Given the description of an element on the screen output the (x, y) to click on. 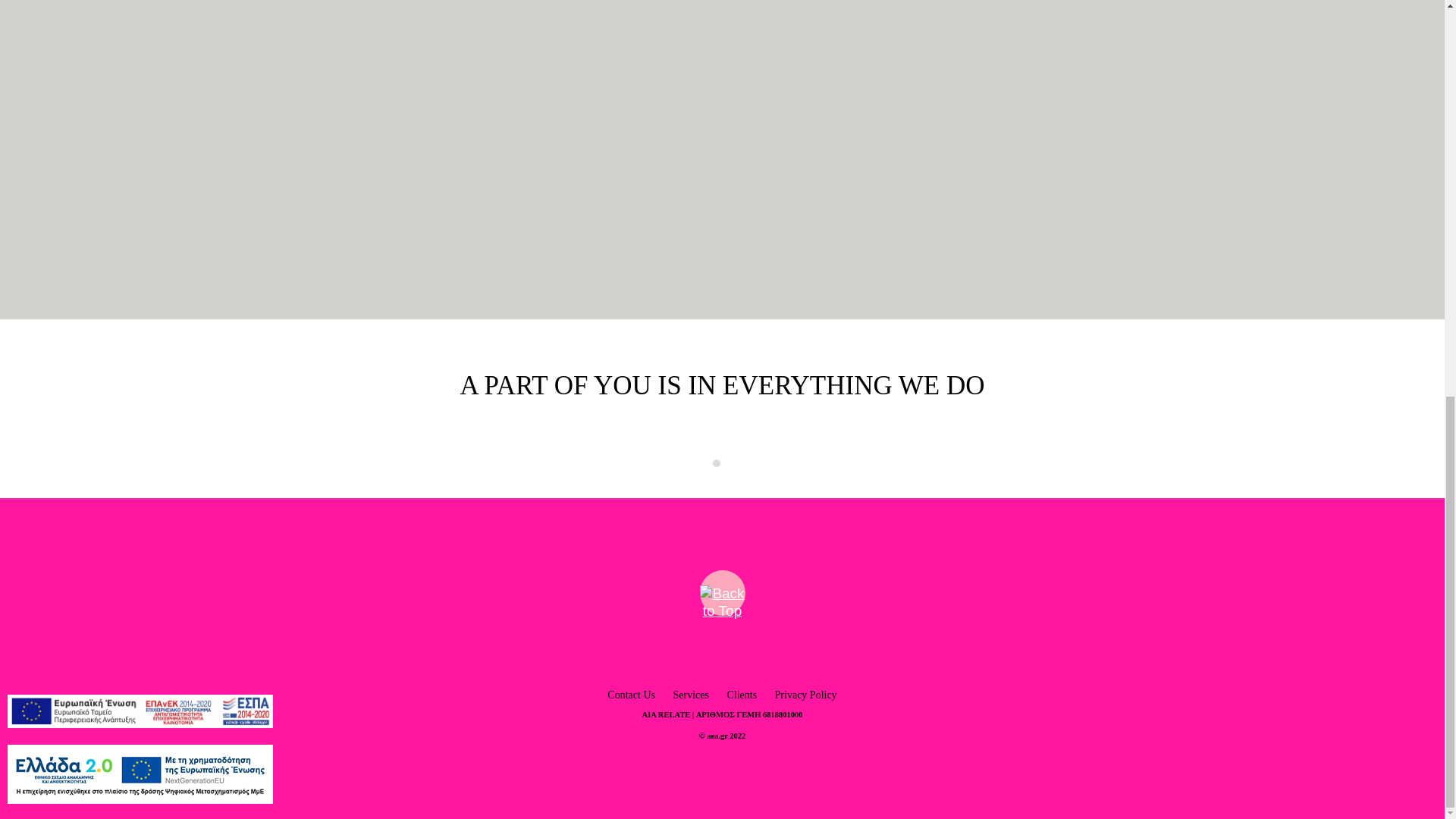
Services (689, 695)
Clients (741, 695)
Contact Us (631, 695)
Privacy Policy (805, 695)
